Given the description of an element on the screen output the (x, y) to click on. 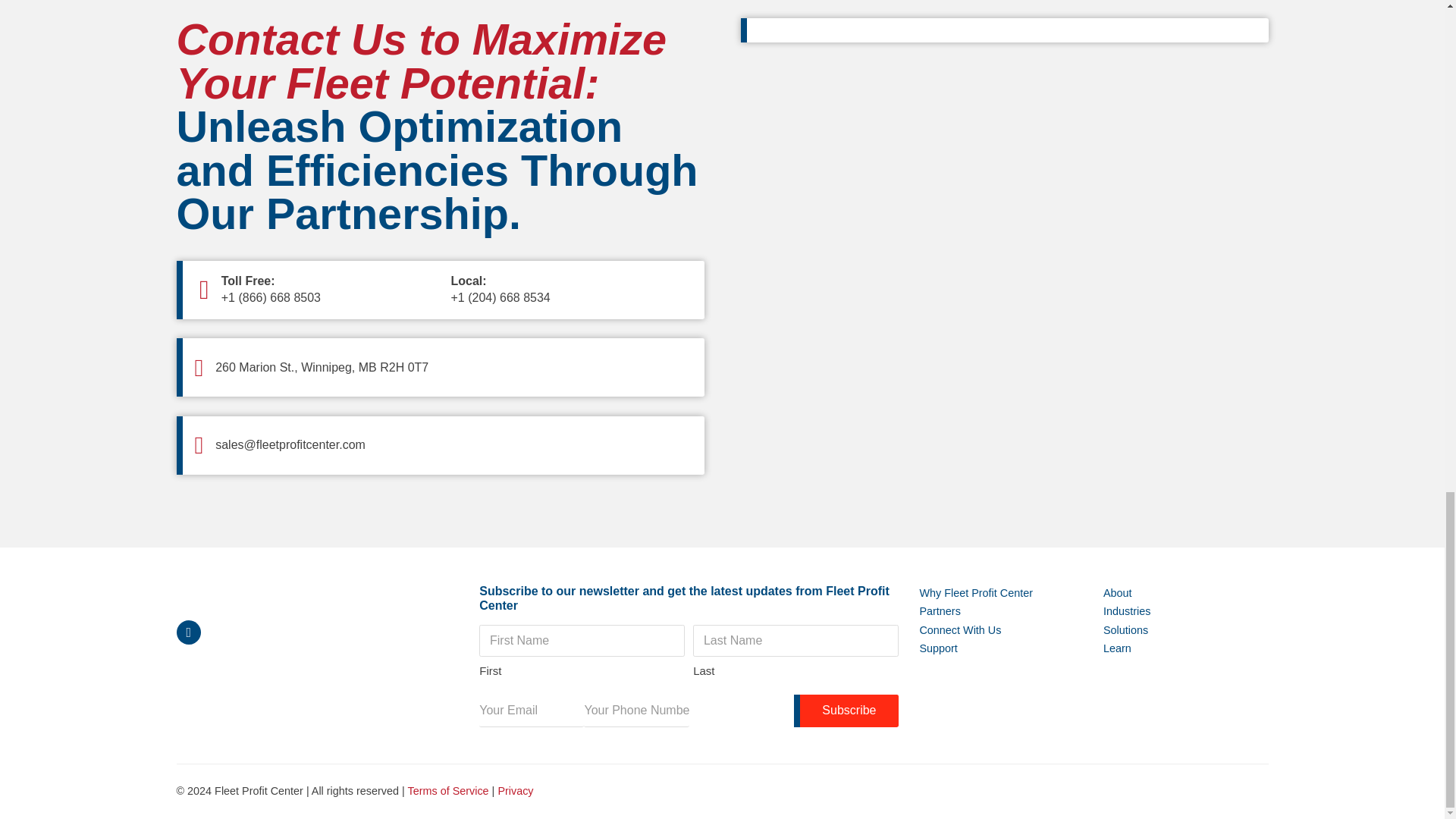
Solutions (1125, 628)
About (1117, 592)
Connect With Us (959, 628)
Terms of Service (447, 790)
Privacy (514, 790)
Subscribe (845, 710)
Learn (1117, 648)
Support (937, 648)
Subscribe (845, 710)
Industries (1126, 610)
